Given the description of an element on the screen output the (x, y) to click on. 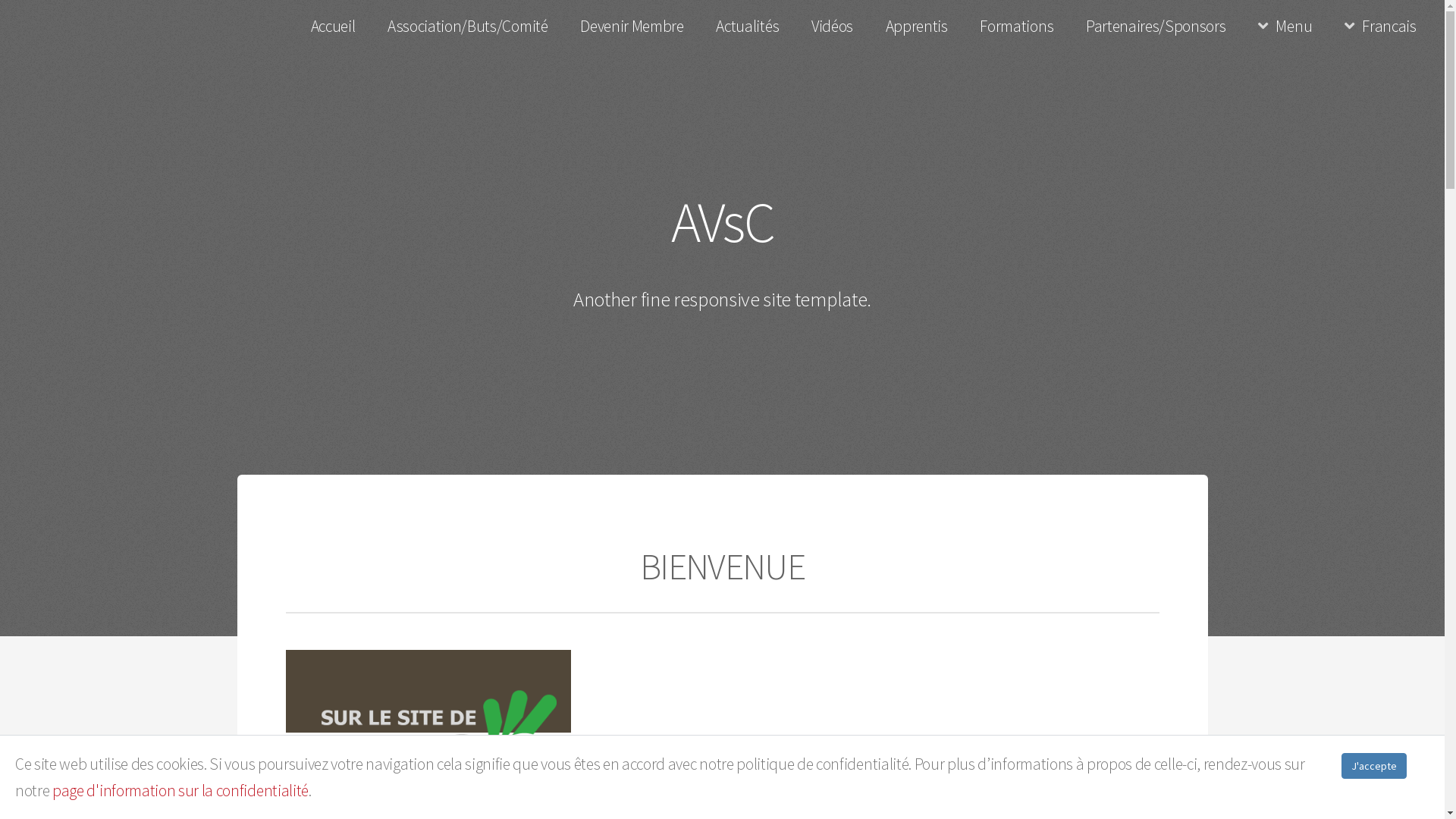
Apprentis Element type: text (916, 26)
Formations Element type: text (1016, 26)
J'accepte Element type: text (1373, 765)
Partenaires/Sponsors Element type: text (1156, 26)
Menu Element type: text (1285, 26)
Accueil Element type: text (332, 26)
Francais Element type: text (1380, 26)
Devenir Membre Element type: text (631, 26)
